Given the description of an element on the screen output the (x, y) to click on. 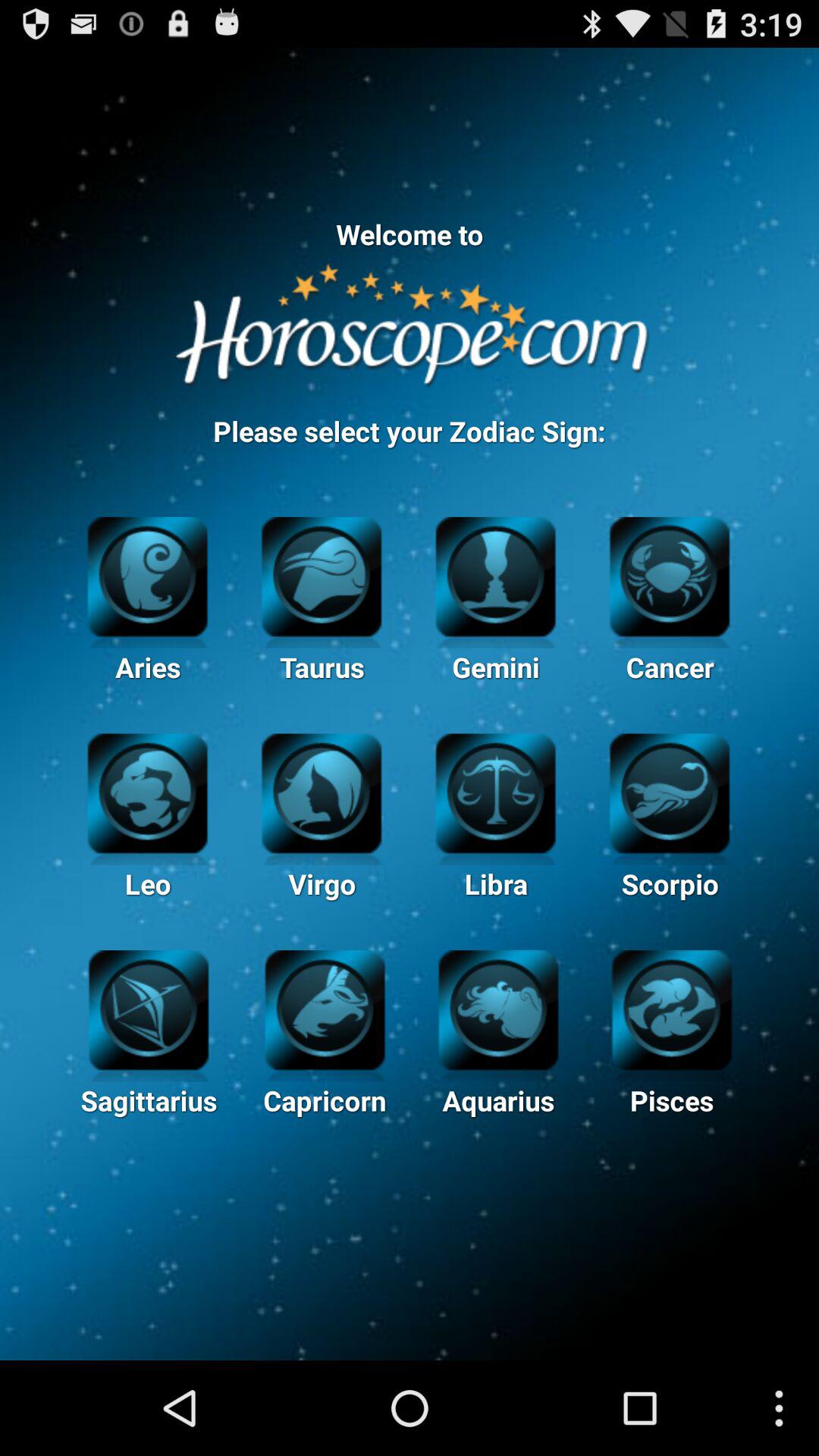
open new page (148, 1007)
